Given the description of an element on the screen output the (x, y) to click on. 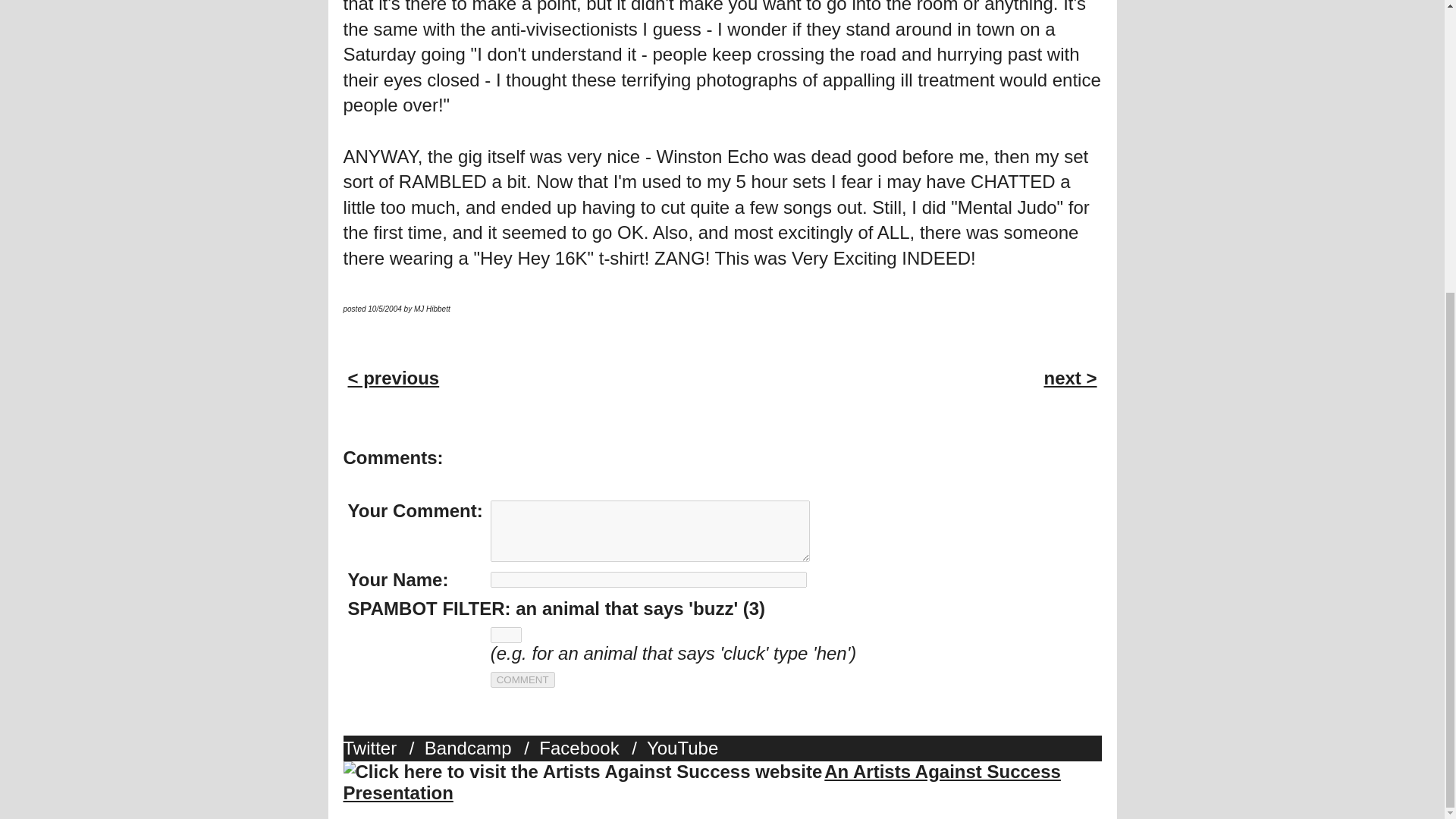
Facebook (582, 747)
COMMENT (522, 679)
Bandcamp (472, 747)
An Artists Against Success Presentation (700, 782)
YouTube (685, 747)
COMMENT (522, 679)
Twitter (373, 747)
